Given the description of an element on the screen output the (x, y) to click on. 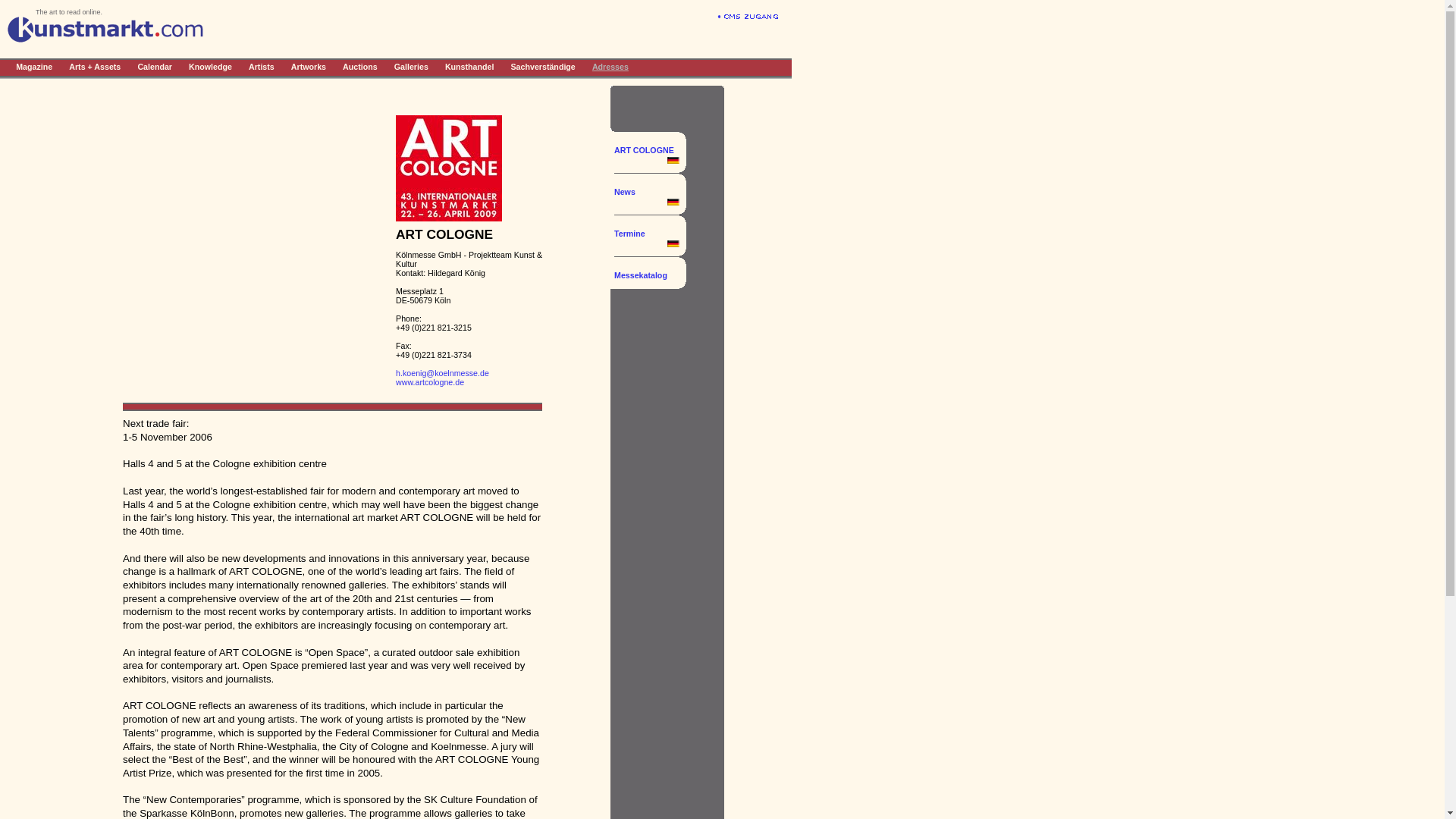
in deutscher Sprache Termine (672, 243)
Adresses (610, 66)
E-Mail (442, 372)
Termine (646, 238)
www.artcologne.de (430, 381)
Kunsthandel (470, 66)
Kunstmarkt.com (105, 39)
News (646, 196)
Galleries (411, 66)
Knowledge (210, 66)
